Given the description of an element on the screen output the (x, y) to click on. 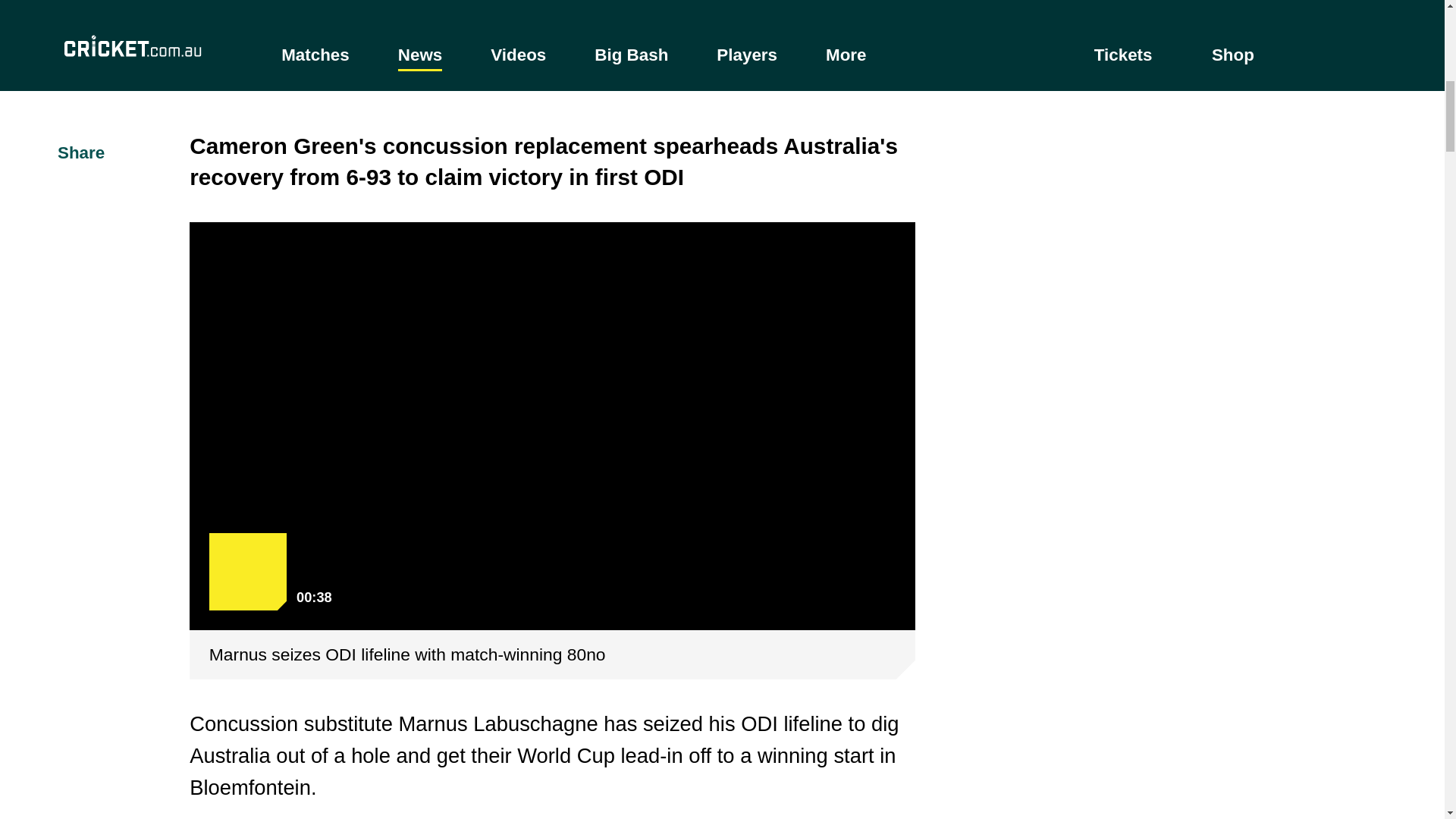
Share (68, 153)
